Given the description of an element on the screen output the (x, y) to click on. 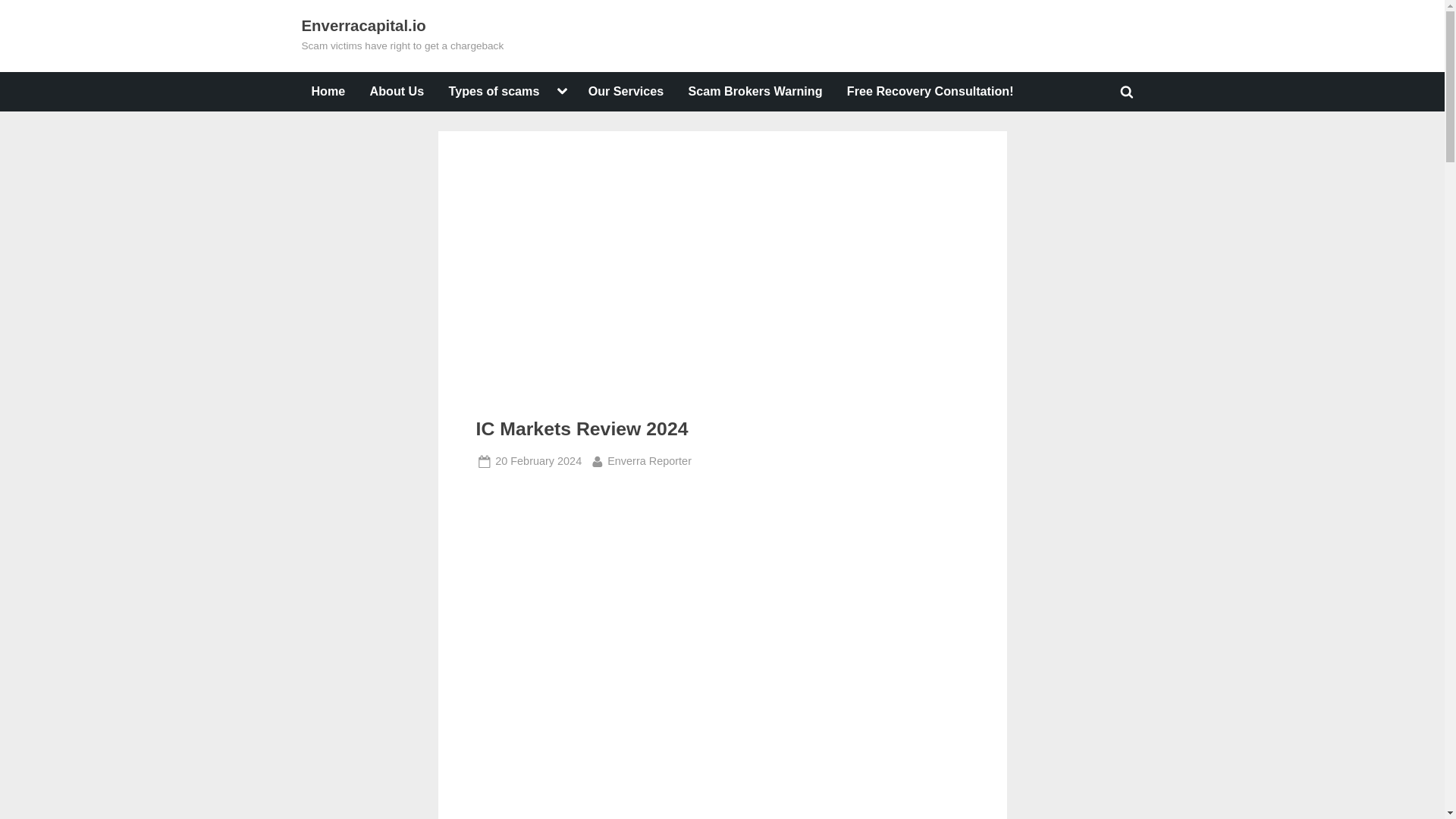
Types of scams (494, 91)
Toggle search form (1126, 91)
Enverracapital.io (537, 461)
Free Recovery Consultation! (363, 25)
Our Services (930, 91)
Toggle sub-menu (625, 91)
Enverra Capital - Free Recovery Consultation (649, 461)
About Us (561, 91)
